Given the description of an element on the screen output the (x, y) to click on. 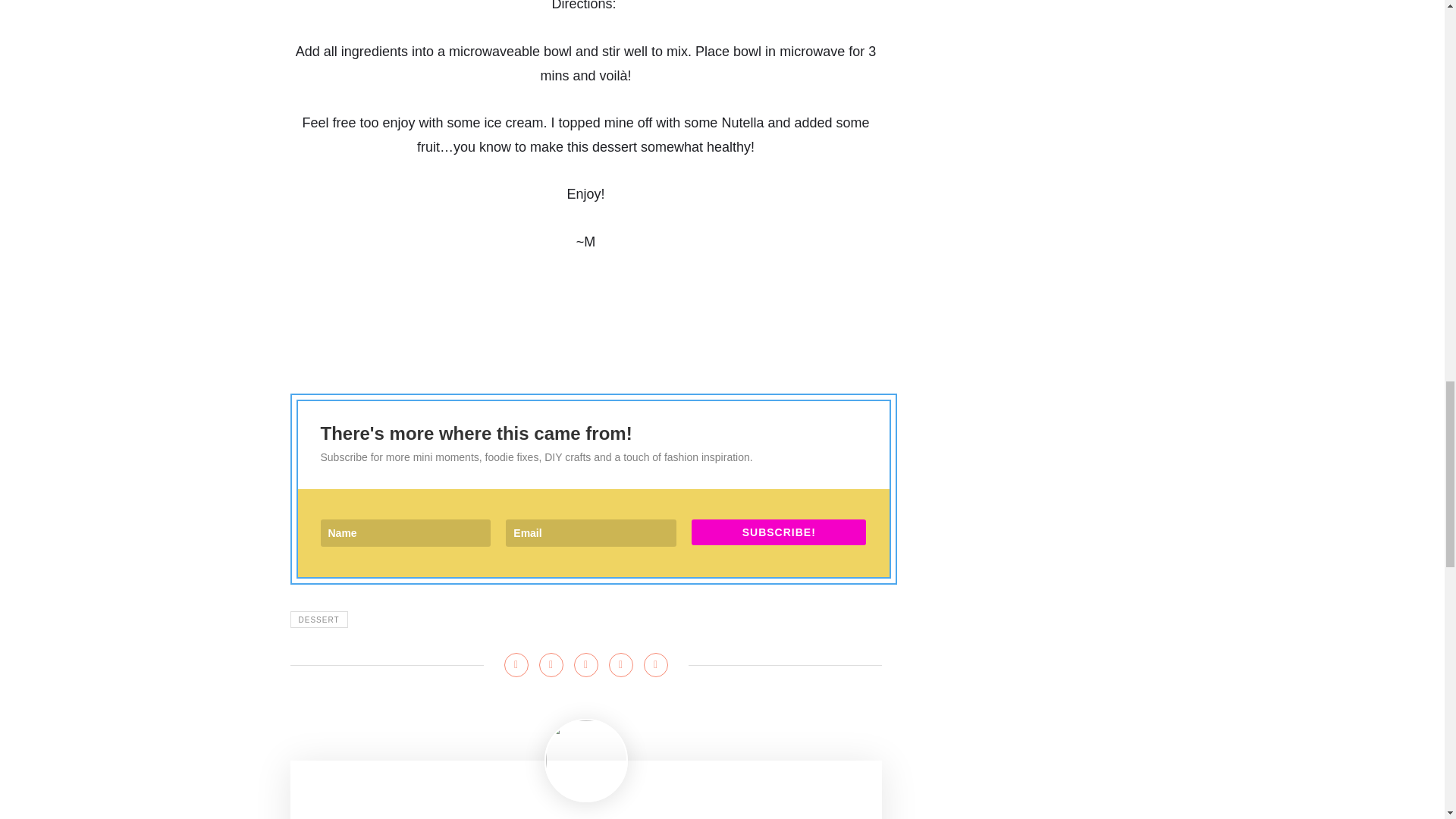
DESSERT (318, 619)
SUBSCRIBE! (778, 532)
